Given the description of an element on the screen output the (x, y) to click on. 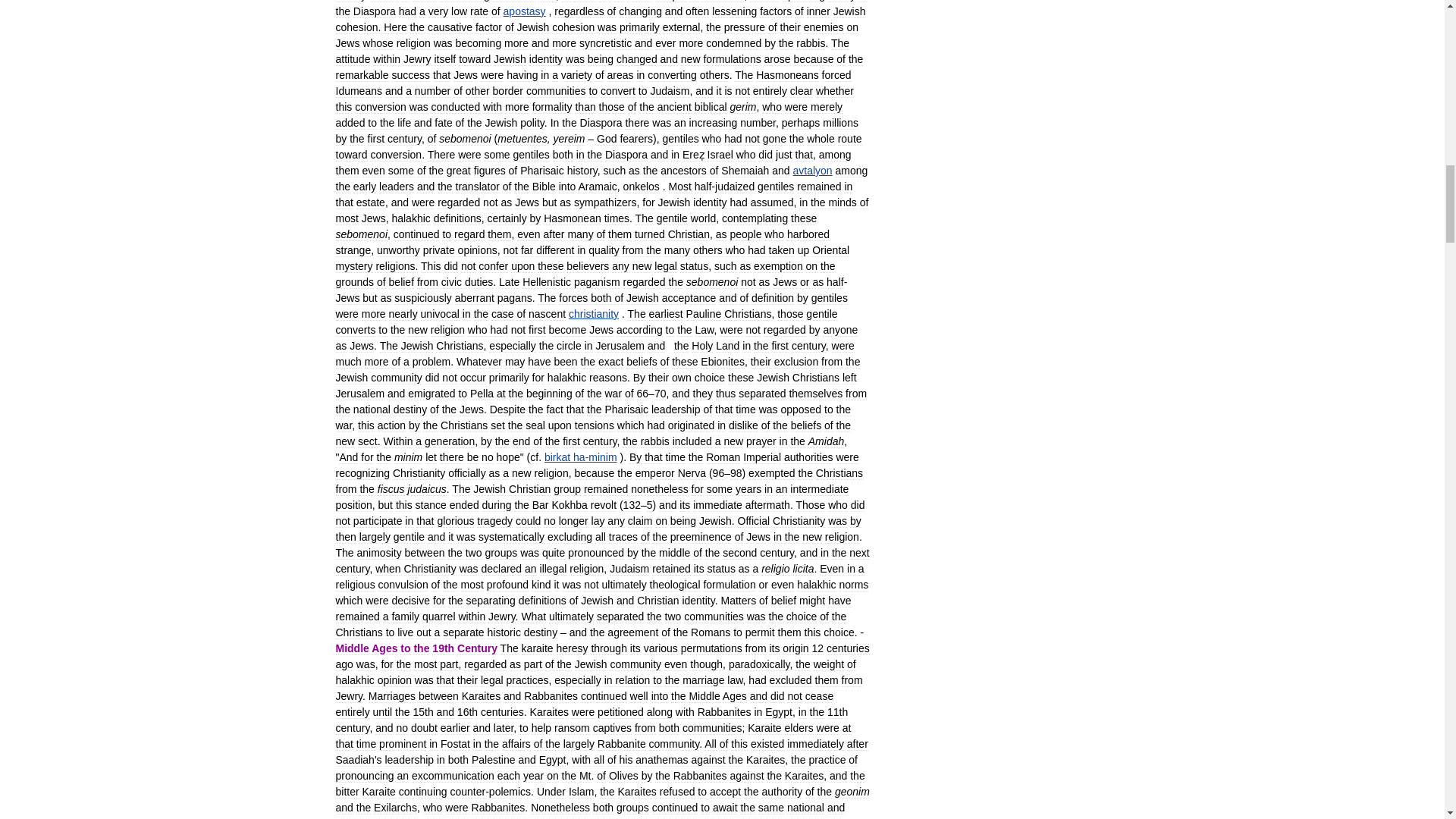
birkat ha-minim (580, 457)
christianity (593, 313)
avtalyon (811, 170)
apostasy (524, 10)
